Given the description of an element on the screen output the (x, y) to click on. 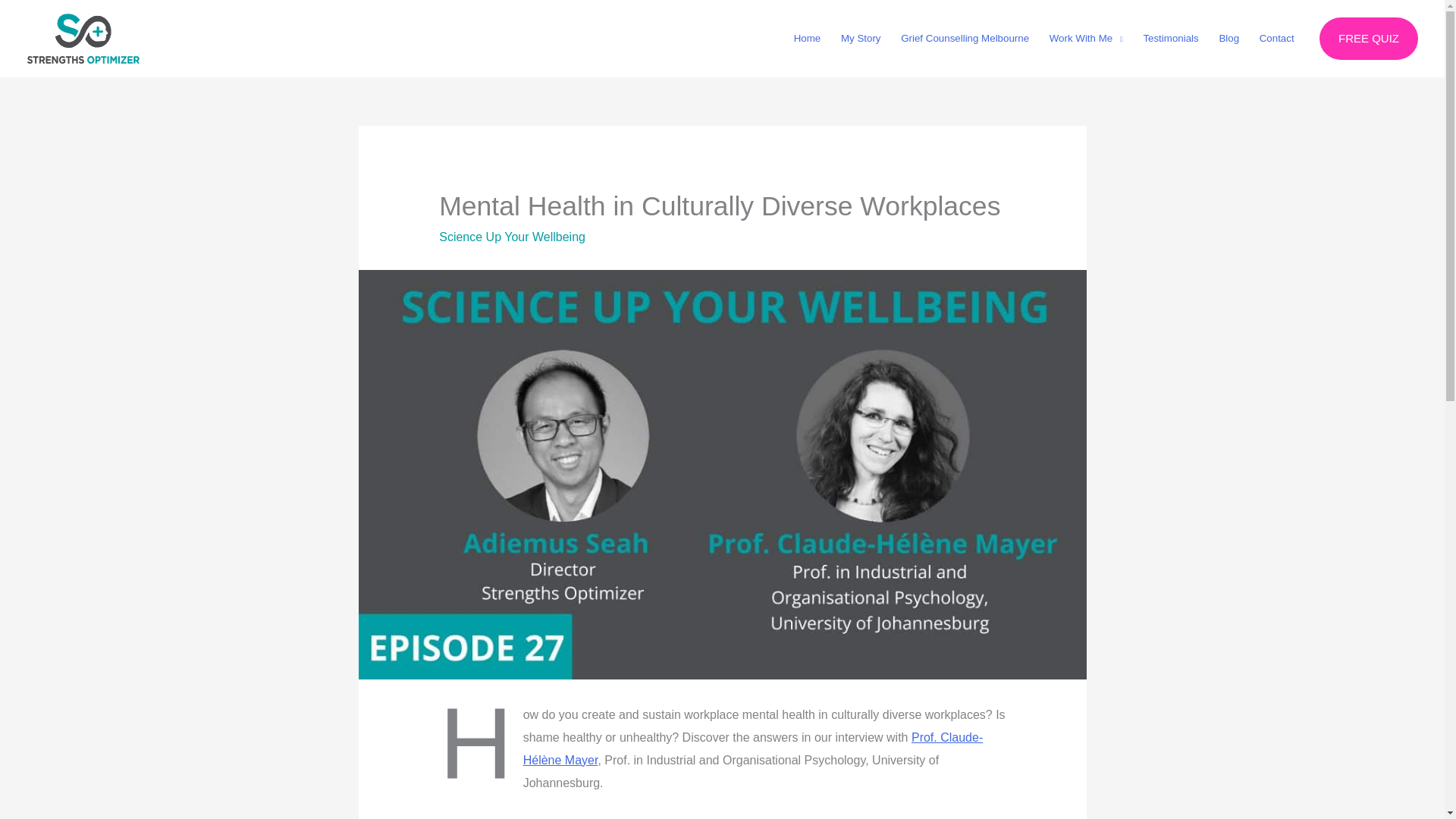
FREE QUIZ (1368, 38)
Contact (1276, 38)
My Story (861, 38)
Testimonials (1170, 38)
Work With Me (1085, 38)
Grief Counselling Melbourne (965, 38)
